Given the description of an element on the screen output the (x, y) to click on. 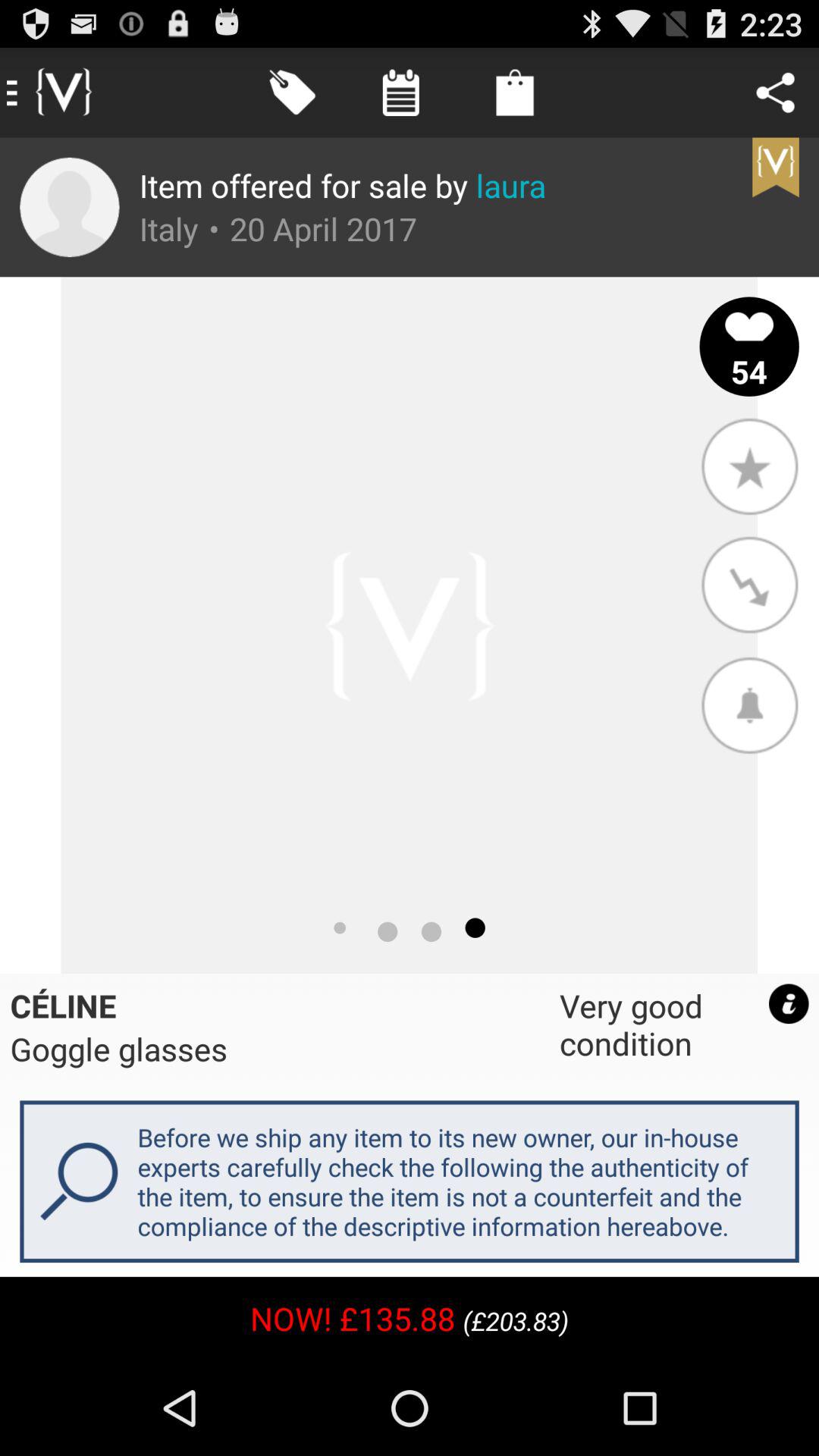
press the icon below 54 (749, 465)
